Given the description of an element on the screen output the (x, y) to click on. 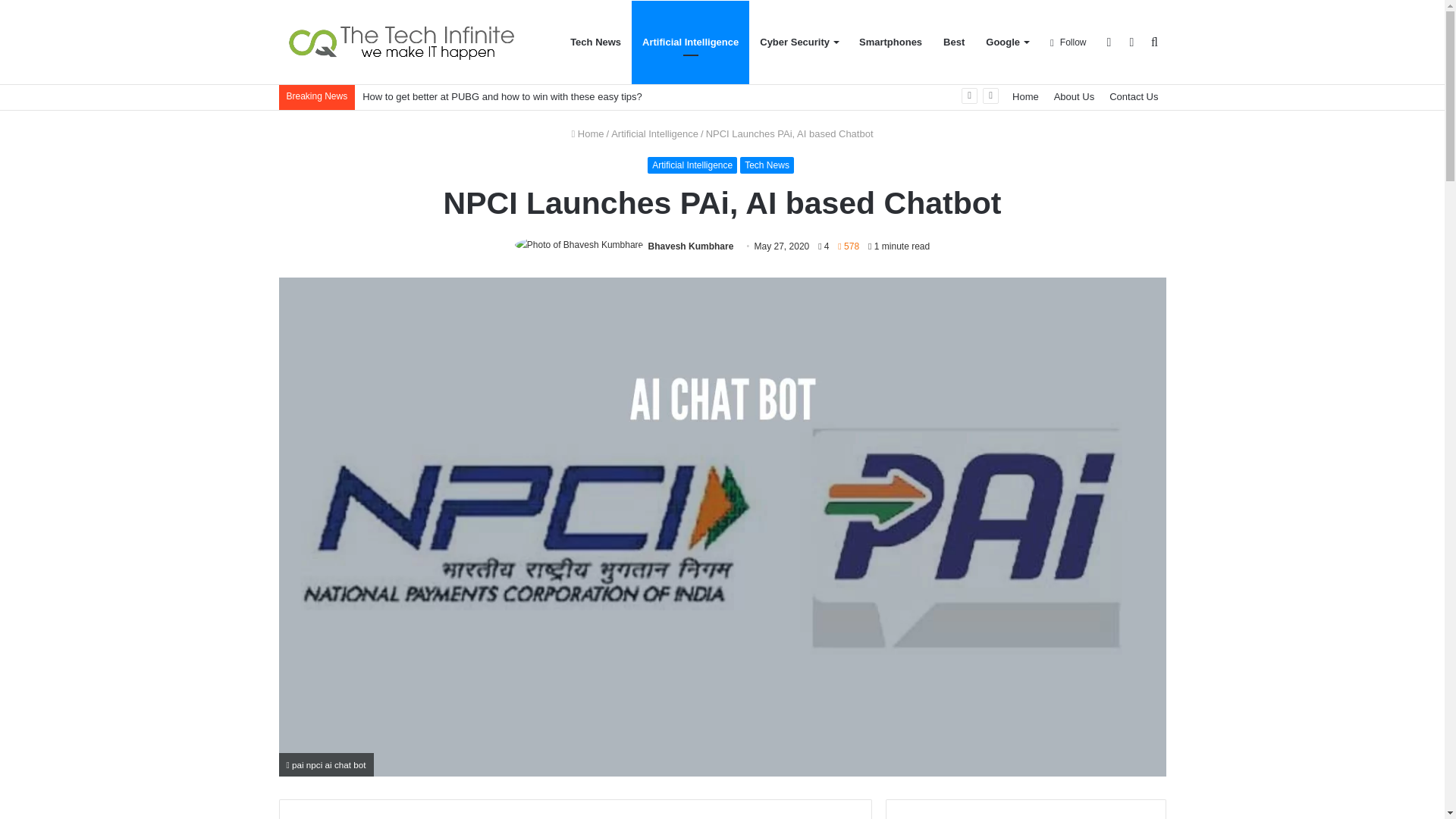
Bhavesh Kumbhare (690, 245)
Cyber Security (798, 42)
Artificial Intelligence (654, 133)
About Us (1074, 96)
Smartphones (890, 42)
Artificial Intelligence (690, 42)
Home (587, 133)
Artificial Intelligence (691, 165)
NPCI (543, 818)
Contact Us (1134, 96)
Bhavesh Kumbhare (690, 245)
Home (1025, 96)
Tech News (766, 165)
The Tech Infinite (401, 41)
